Given the description of an element on the screen output the (x, y) to click on. 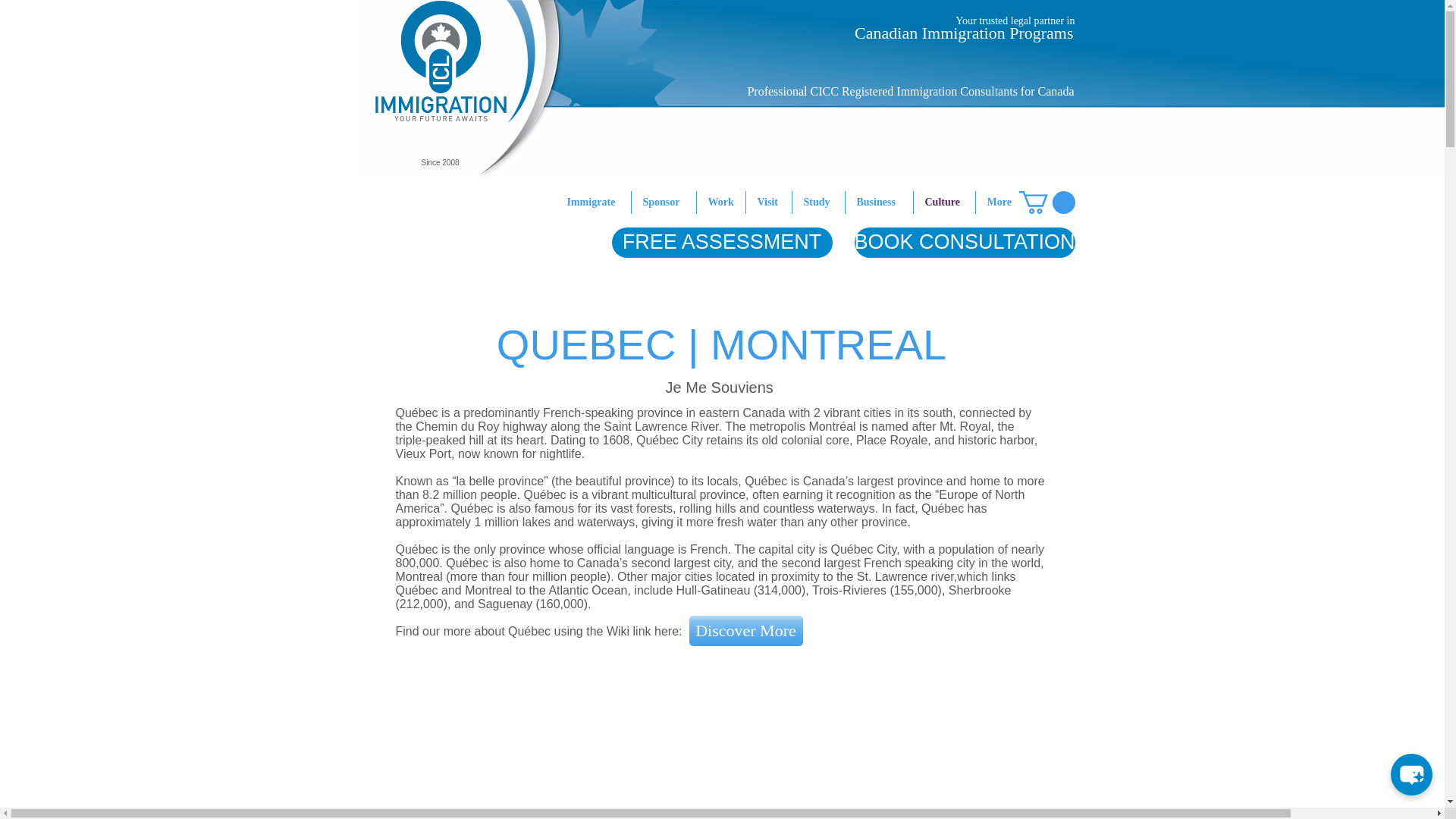
Visit (768, 201)
Work (719, 201)
Sponsor (662, 201)
Study (818, 201)
Immigrate (592, 201)
